Given the description of an element on the screen output the (x, y) to click on. 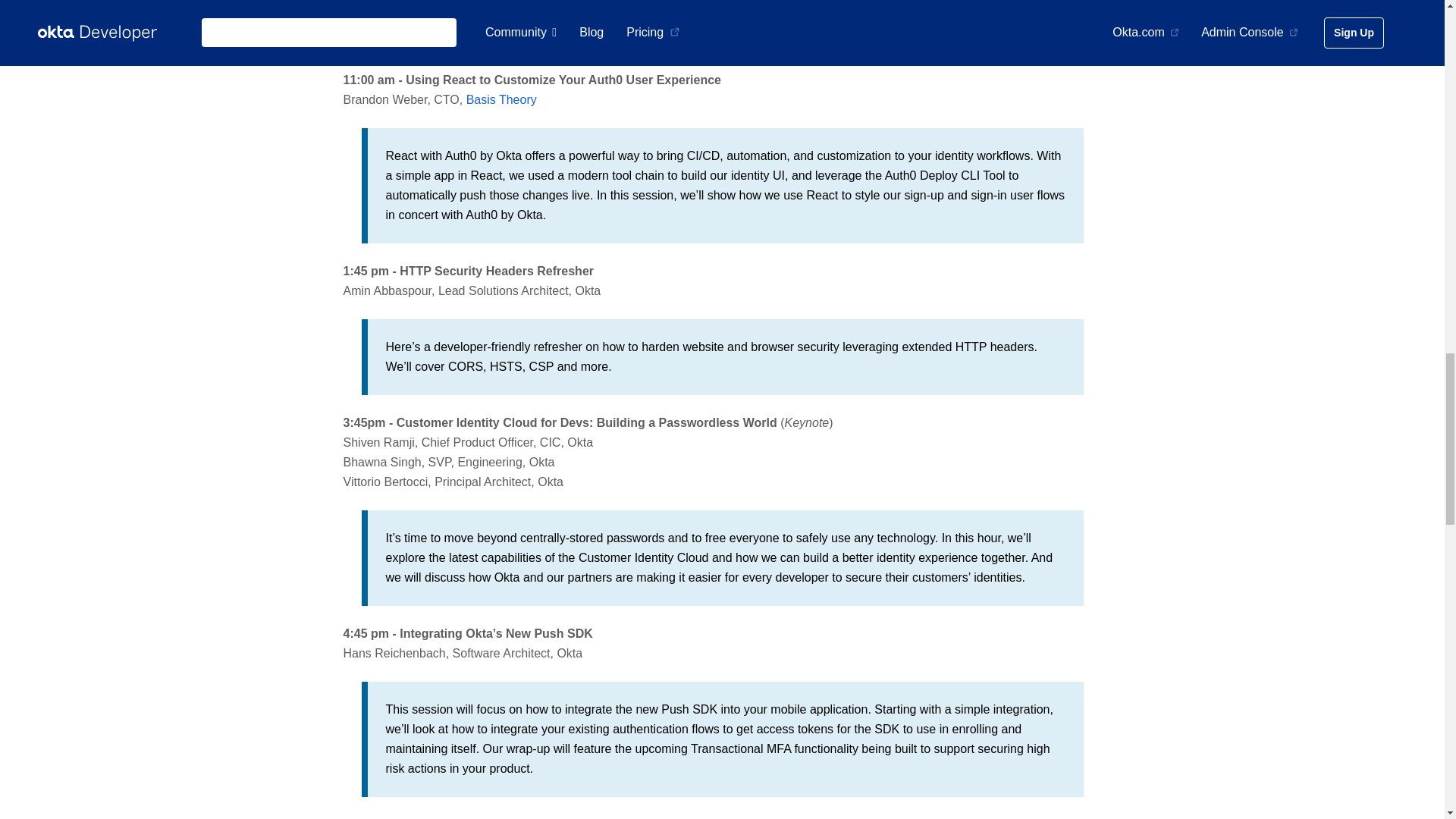
Basis Theory (501, 99)
Oktane Online (622, 10)
